Given the description of an element on the screen output the (x, y) to click on. 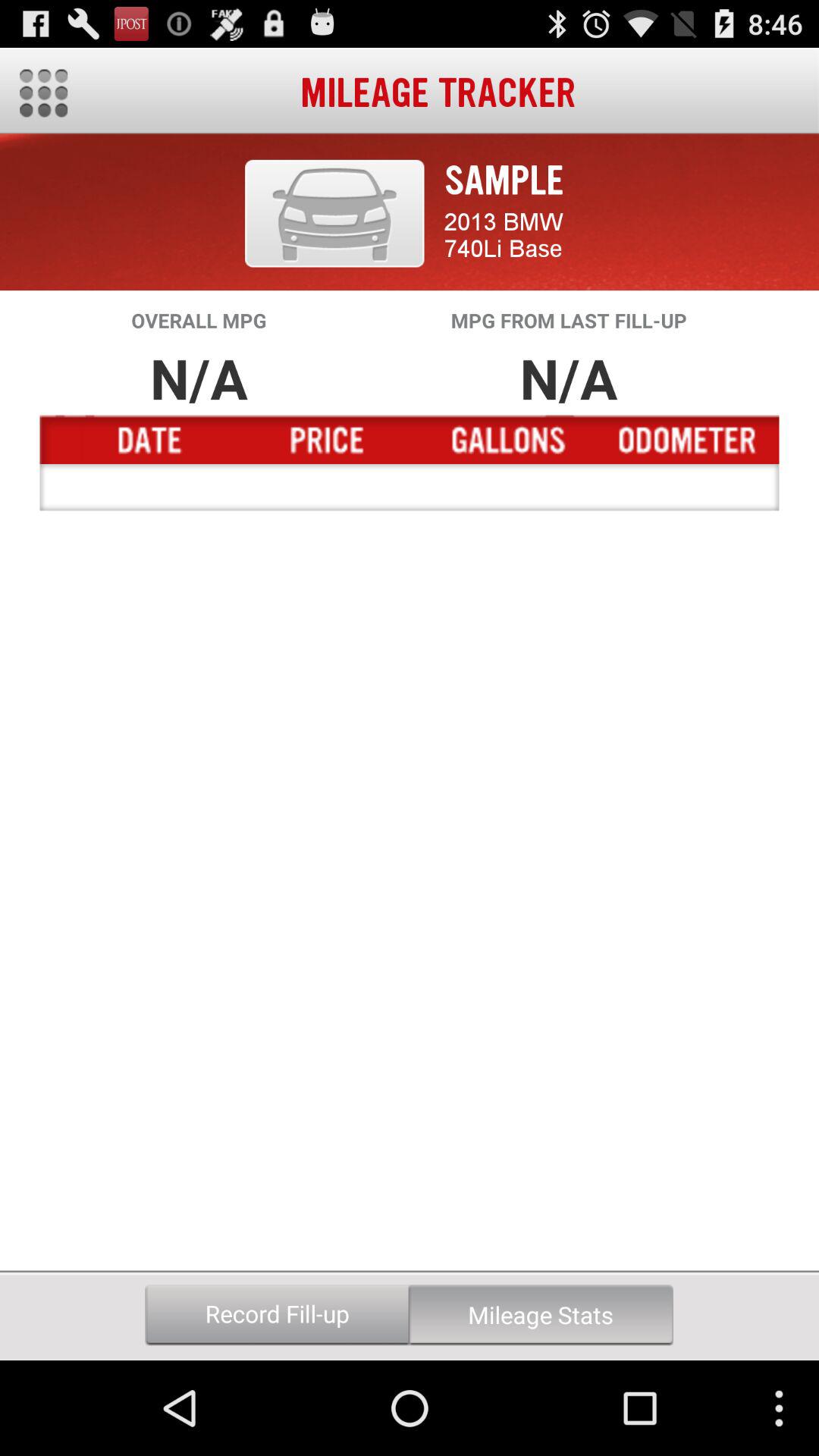
launch mileage stats button (540, 1314)
